Given the description of an element on the screen output the (x, y) to click on. 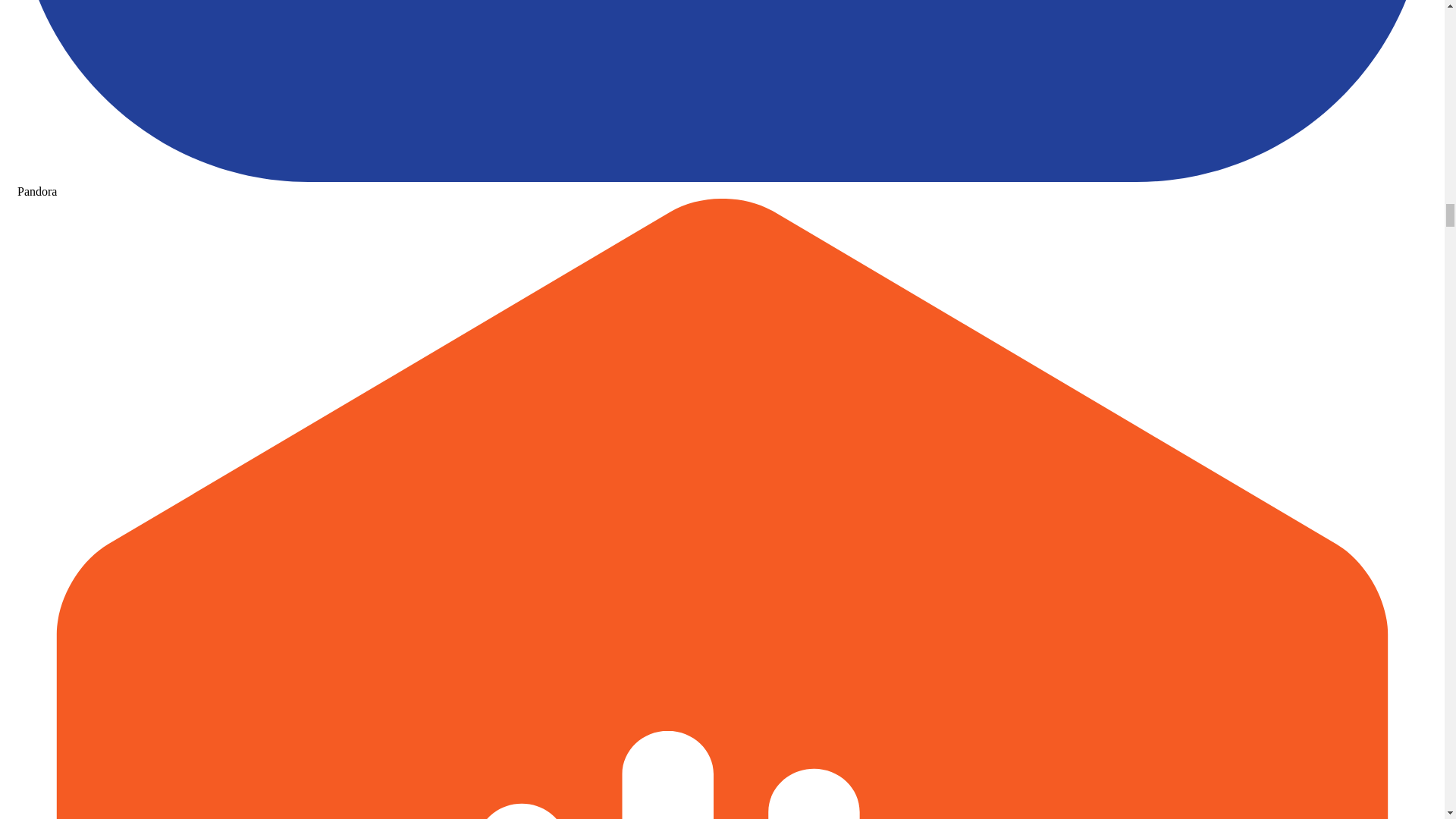
Pandora (721, 184)
